Given the description of an element on the screen output the (x, y) to click on. 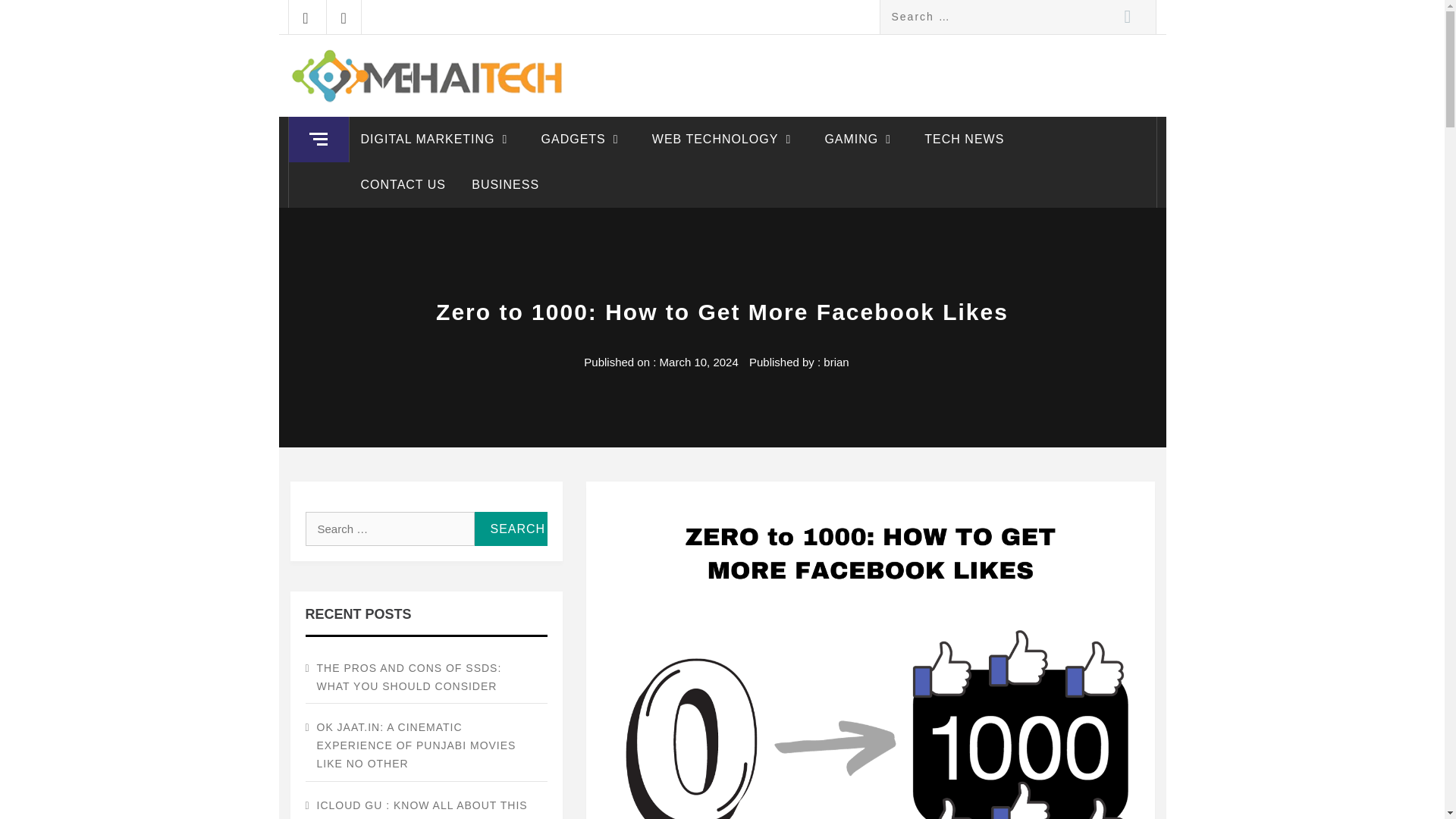
brian (836, 361)
Search (1127, 17)
GADGETS (583, 139)
GAMING (861, 139)
TECH NEWS (963, 139)
Search (1127, 17)
March 10, 2024 (698, 361)
Search (510, 528)
Search (1127, 17)
WEB TECHNOLOGY (724, 139)
